Given the description of an element on the screen output the (x, y) to click on. 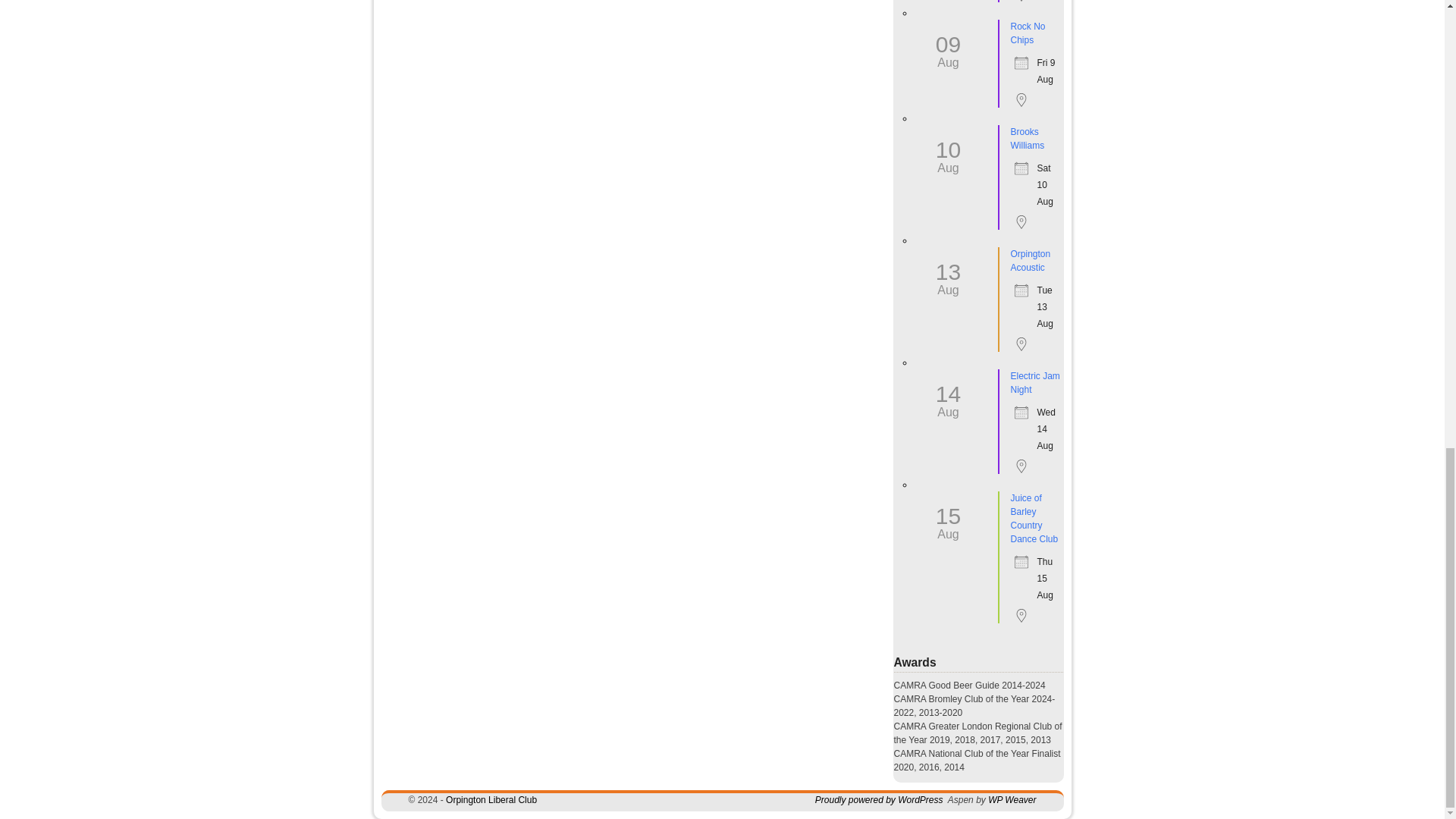
wordpress.org (879, 799)
Orpington Liberal Club (491, 799)
